Given the description of an element on the screen output the (x, y) to click on. 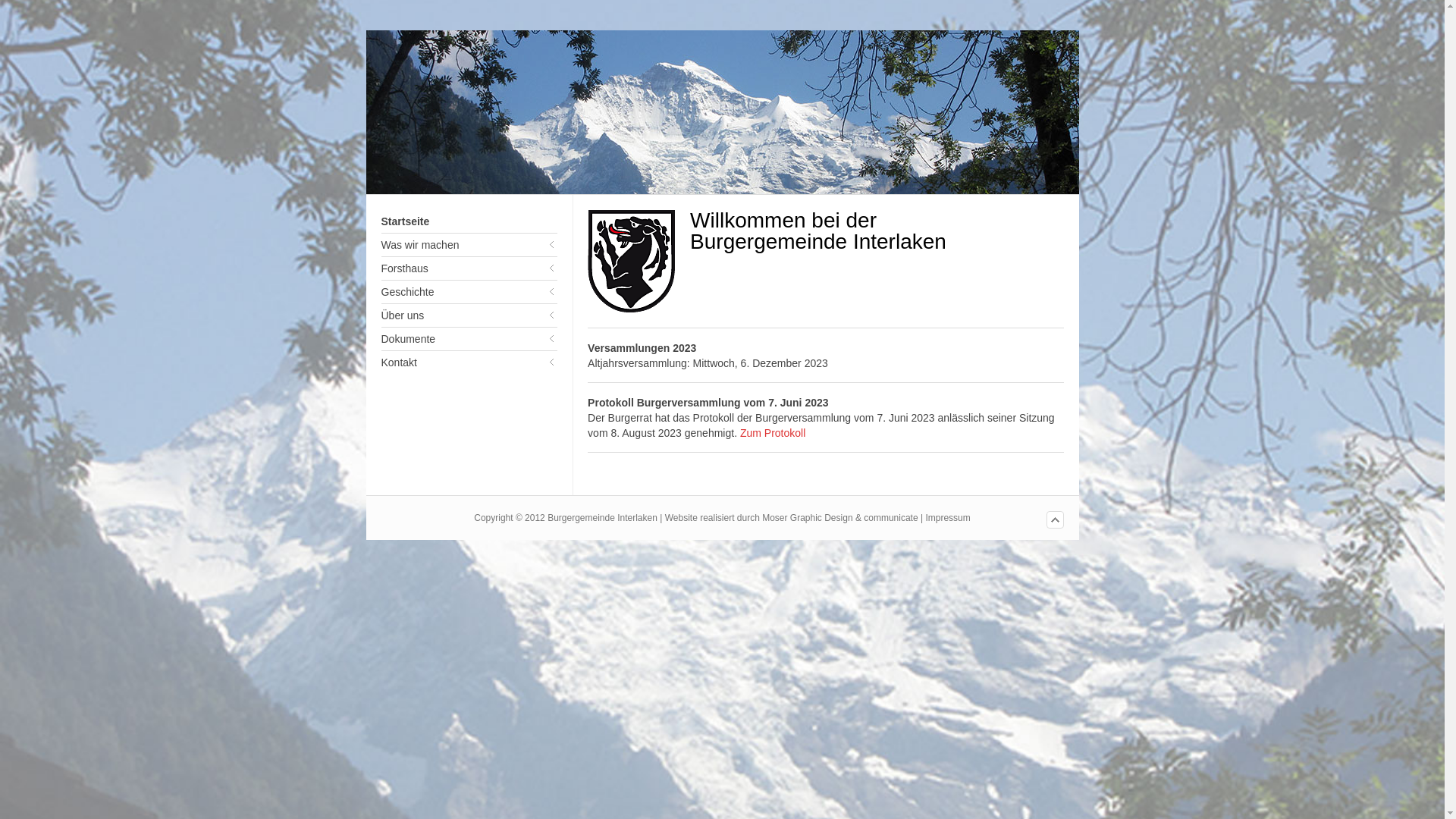
Moser Graphic Design Element type: text (807, 517)
Startseite Element type: text (468, 221)
Forsthaus Element type: text (468, 268)
Was wir machen Element type: text (468, 244)
Kontakt Element type: text (468, 362)
Impressum Element type: text (947, 517)
Geschichte Element type: text (468, 291)
Zum Protokoll Element type: text (772, 432)
Dokumente Element type: text (468, 338)
communicate Element type: text (890, 517)
